Given the description of an element on the screen output the (x, y) to click on. 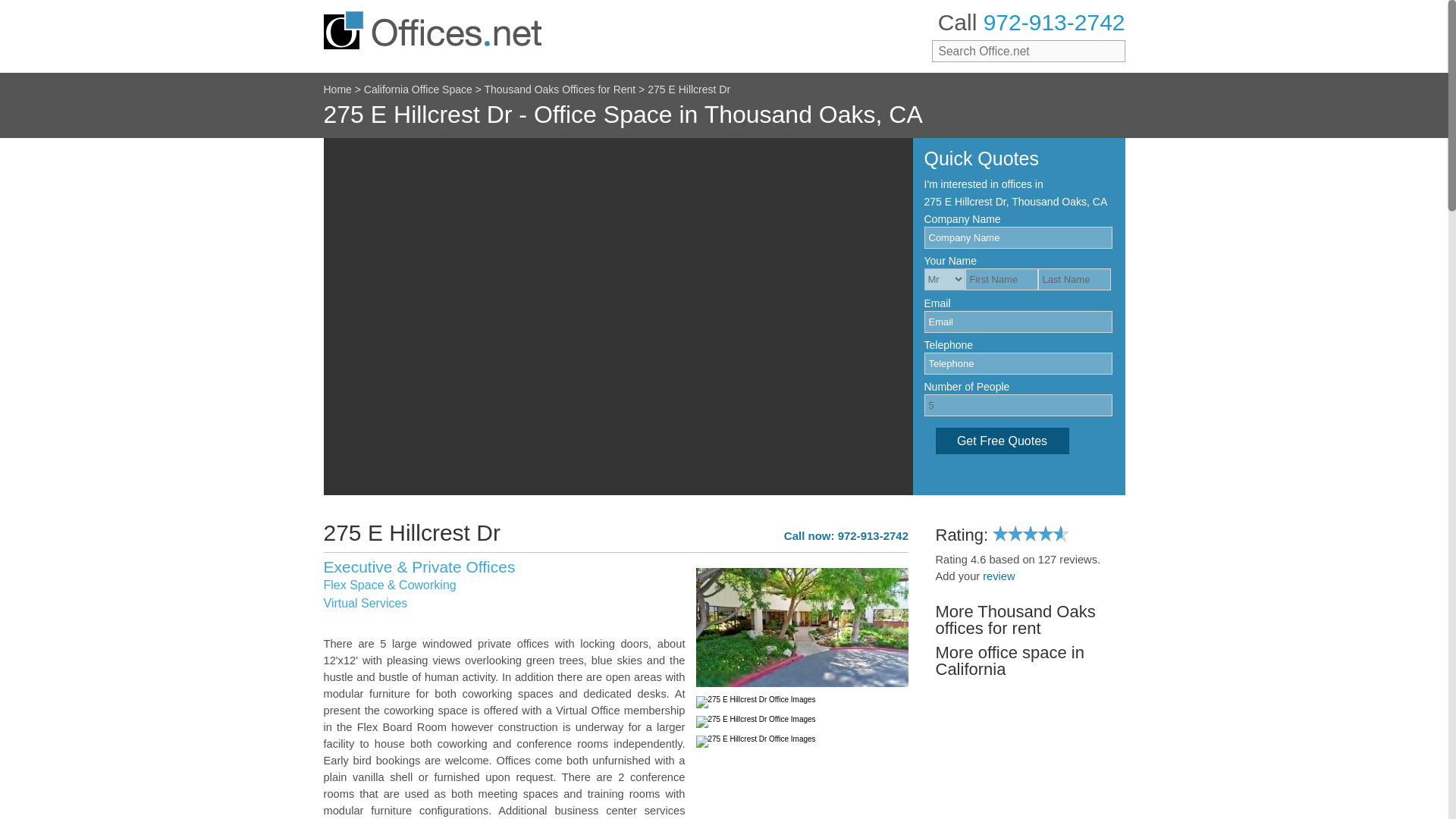
Thousand Oaks Offices for Rent (558, 89)
5 (1017, 404)
California Office Space (417, 89)
review (998, 576)
Home (336, 89)
Get Free Quotes (1002, 440)
